Given the description of an element on the screen output the (x, y) to click on. 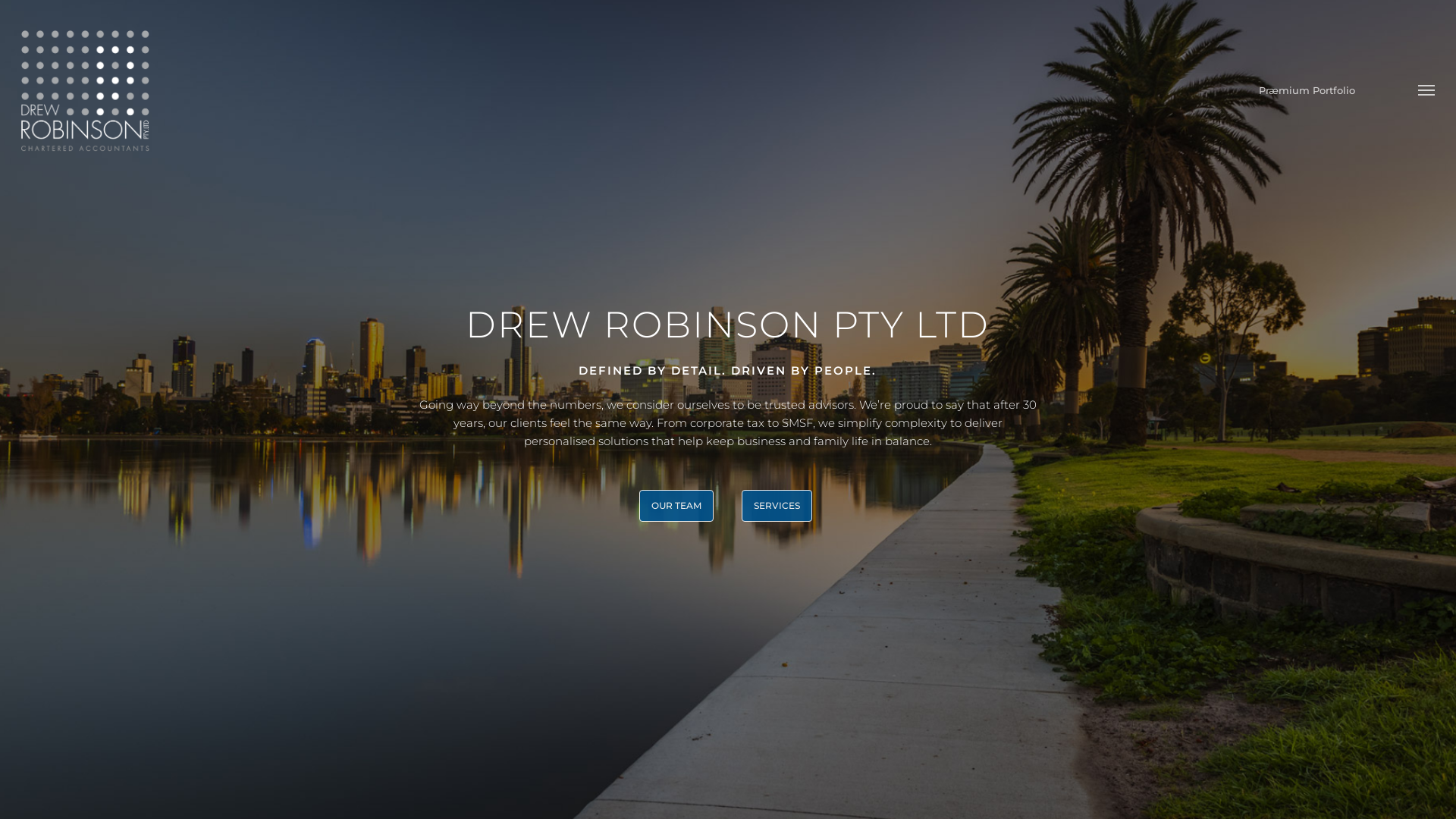
SERVICES Element type: text (776, 505)
OUR TEAM Element type: text (676, 505)
